Given the description of an element on the screen output the (x, y) to click on. 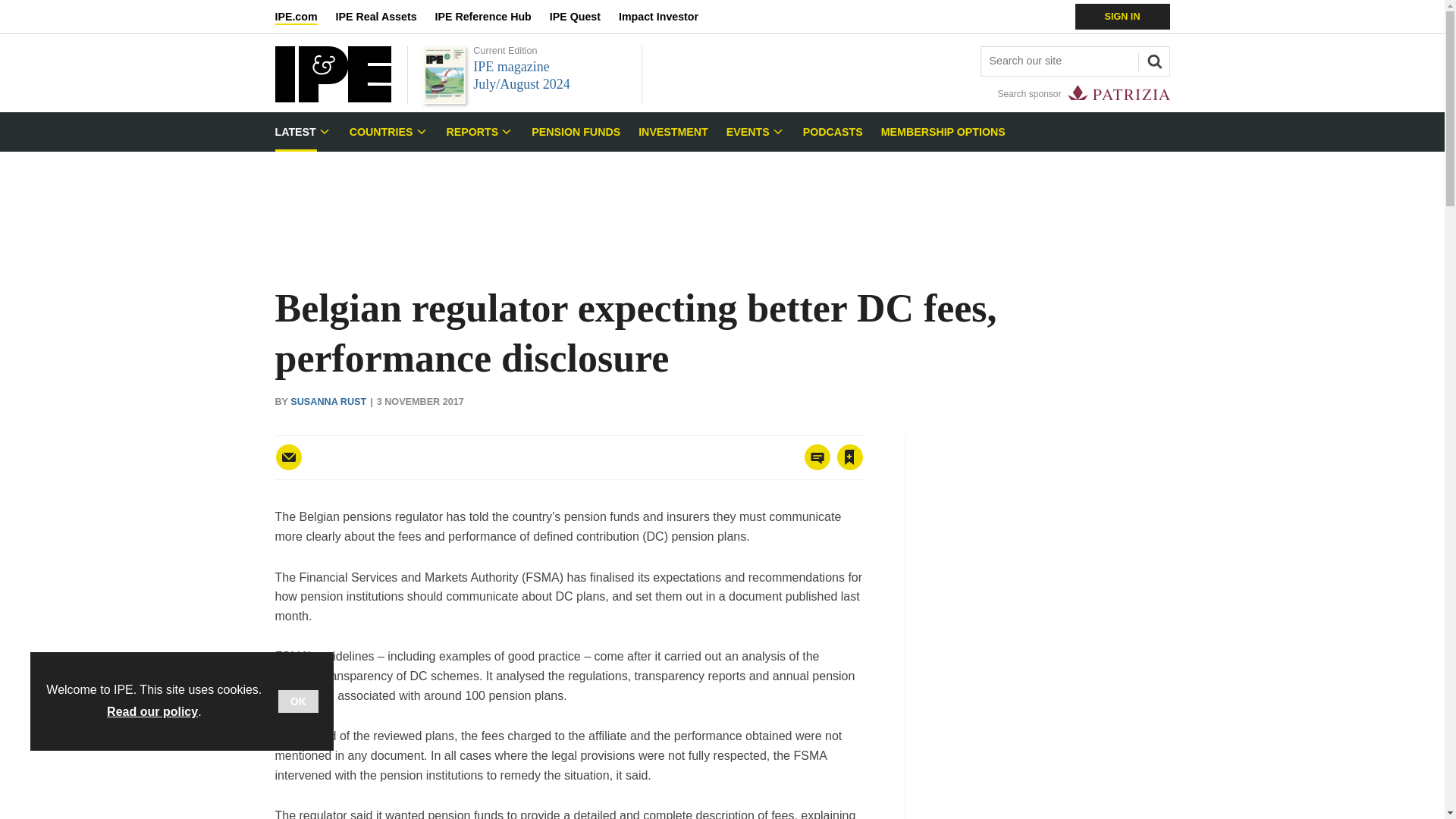
IPE (332, 97)
OK (298, 701)
IPE Reference Hub (491, 16)
IPE Real Assets (384, 16)
SEARCH (1152, 59)
IPE Quest (583, 16)
IPE Real Assets (384, 16)
Impact Investor (667, 16)
IPE Quest (583, 16)
IPE Reference Hub (491, 16)
Read our policy (152, 711)
Email this article (288, 456)
SIGN IN (1122, 16)
Impact Investor (667, 16)
